Given the description of an element on the screen output the (x, y) to click on. 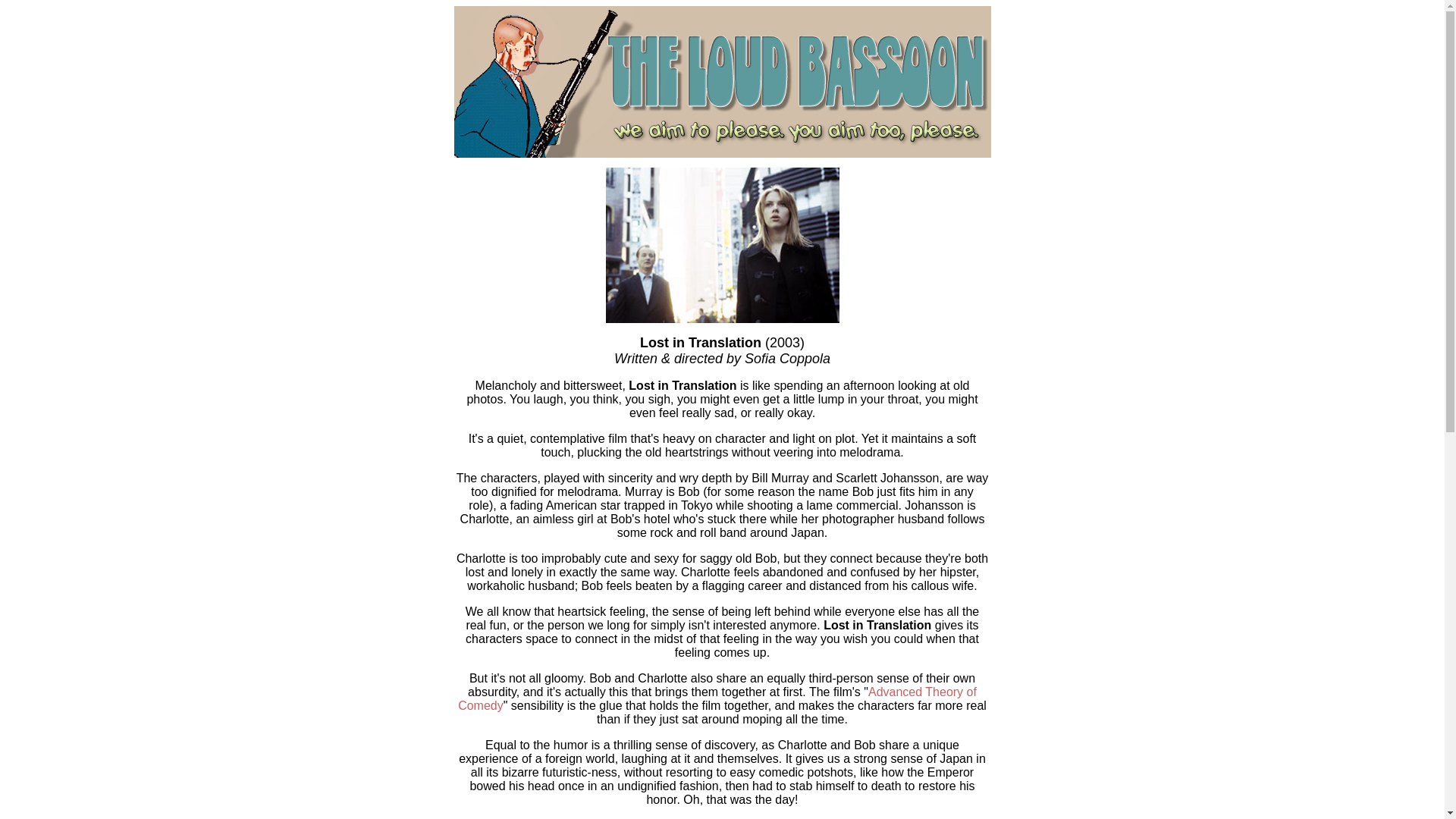
Advanced Theory of Comedy (717, 698)
The Loud Bassoon (721, 81)
